Given the description of an element on the screen output the (x, y) to click on. 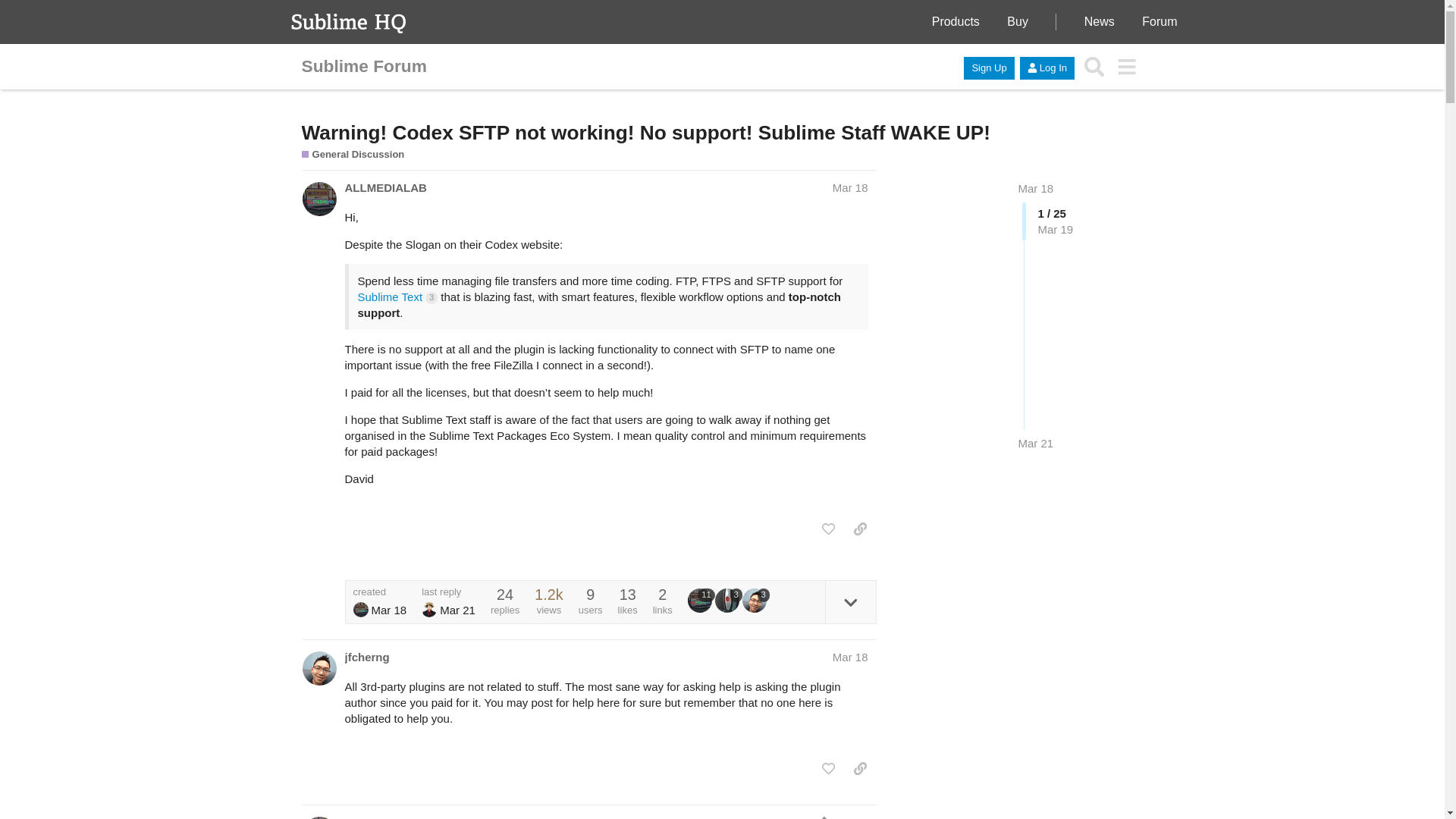
Mar 18, 2024 5:55 pm (849, 187)
Mar 21 (1034, 442)
Buy (1017, 21)
ALLMEDIALAB (699, 600)
kapitanluffy (429, 609)
Products (955, 21)
Mar 18 (849, 656)
News (1099, 21)
Sign Up (988, 67)
Sublime Text 3 (398, 296)
1222 (548, 594)
like this post (828, 529)
Mar 21 (1034, 442)
ALLMEDIALAB (318, 198)
Mar 18 (849, 187)
